Given the description of an element on the screen output the (x, y) to click on. 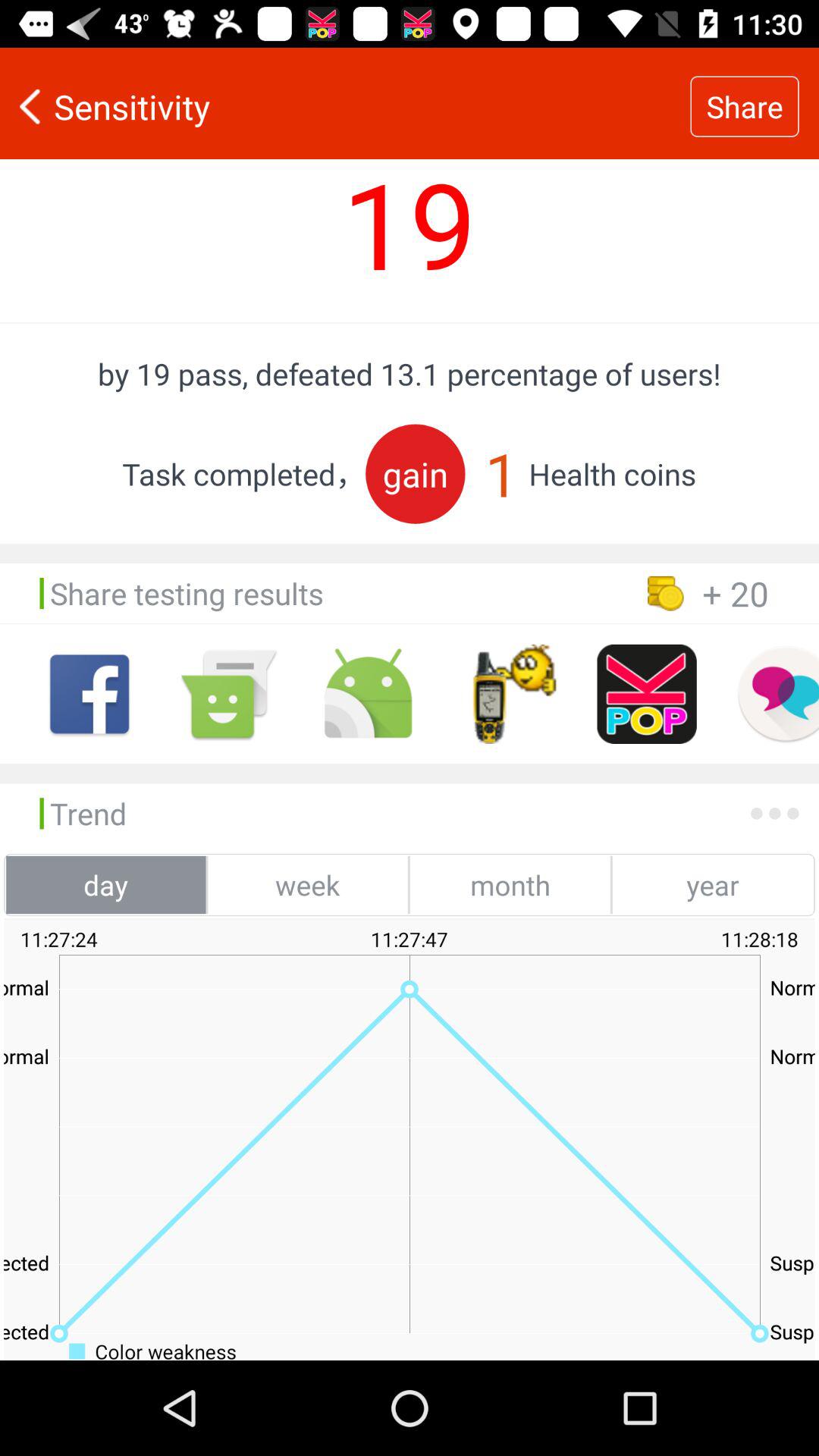
toggle face book option (89, 693)
